Given the description of an element on the screen output the (x, y) to click on. 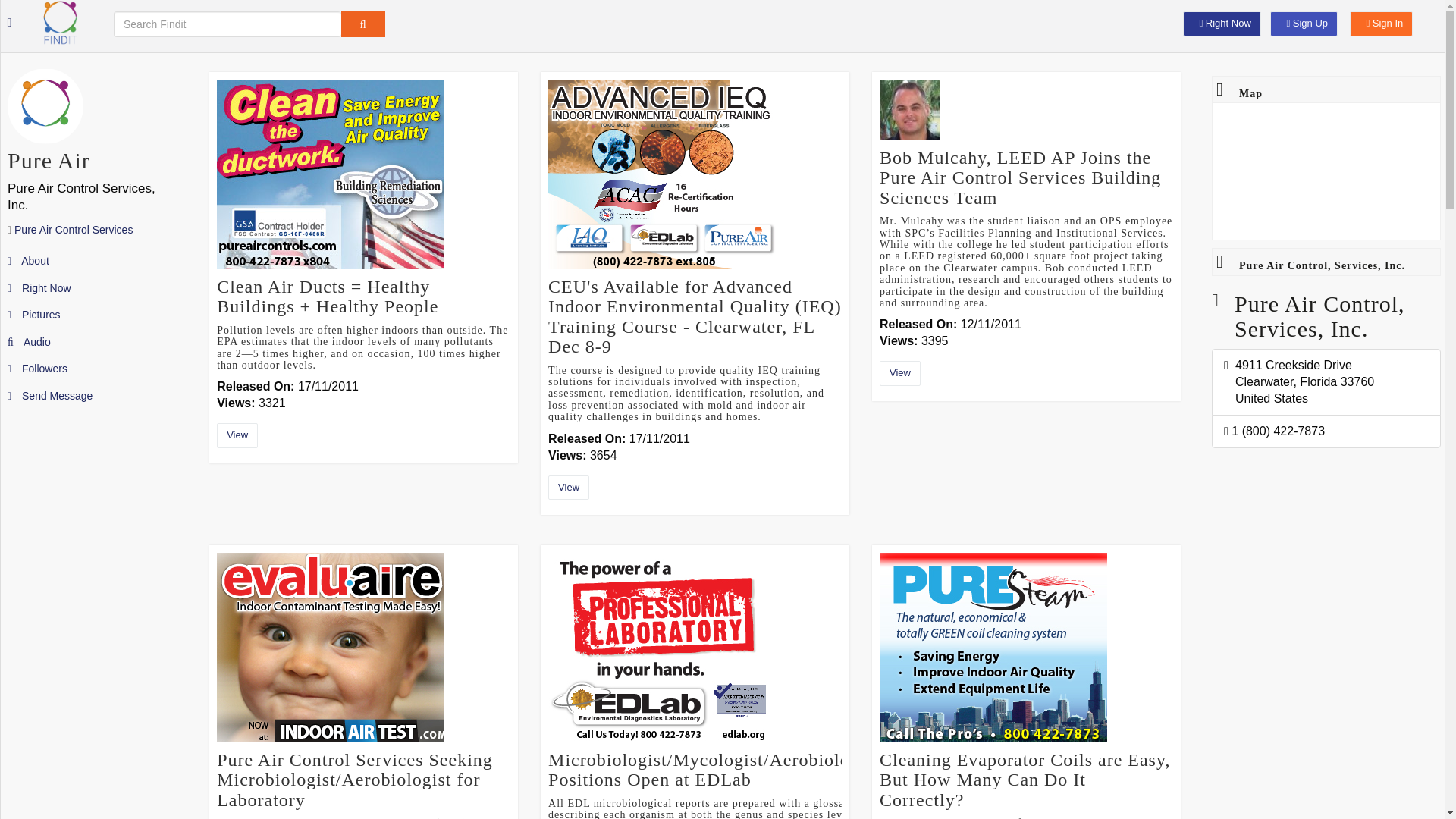
Followers (36, 368)
About (28, 260)
Right Now (39, 287)
Sign Up (1303, 23)
Send Message (50, 395)
Sign In (1380, 23)
Pictures (34, 314)
Audio (28, 340)
Pure Air Control Services (73, 229)
Right Now (1221, 23)
